Given the description of an element on the screen output the (x, y) to click on. 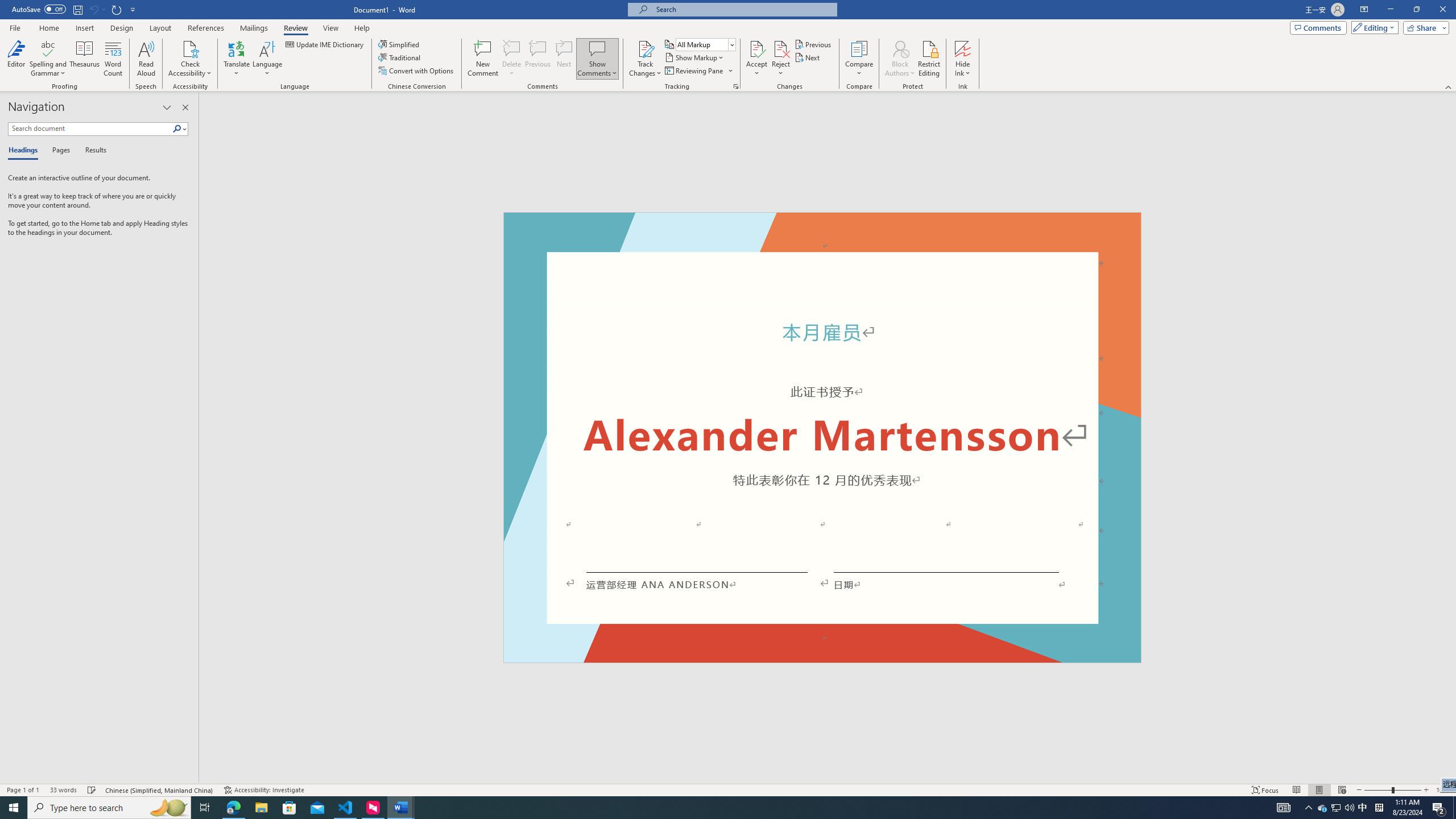
Translate (236, 58)
Simplified (400, 44)
Search (179, 128)
Delete (511, 48)
Show Markup (695, 56)
Header -Section 1- (822, 225)
Task Pane Options (167, 107)
Class: MsoCommandBar (728, 789)
Search (177, 128)
Pages (59, 150)
Accessibility Checker Accessibility: Investigate (263, 790)
Review (295, 28)
Open (731, 44)
Design (122, 28)
